Given the description of an element on the screen output the (x, y) to click on. 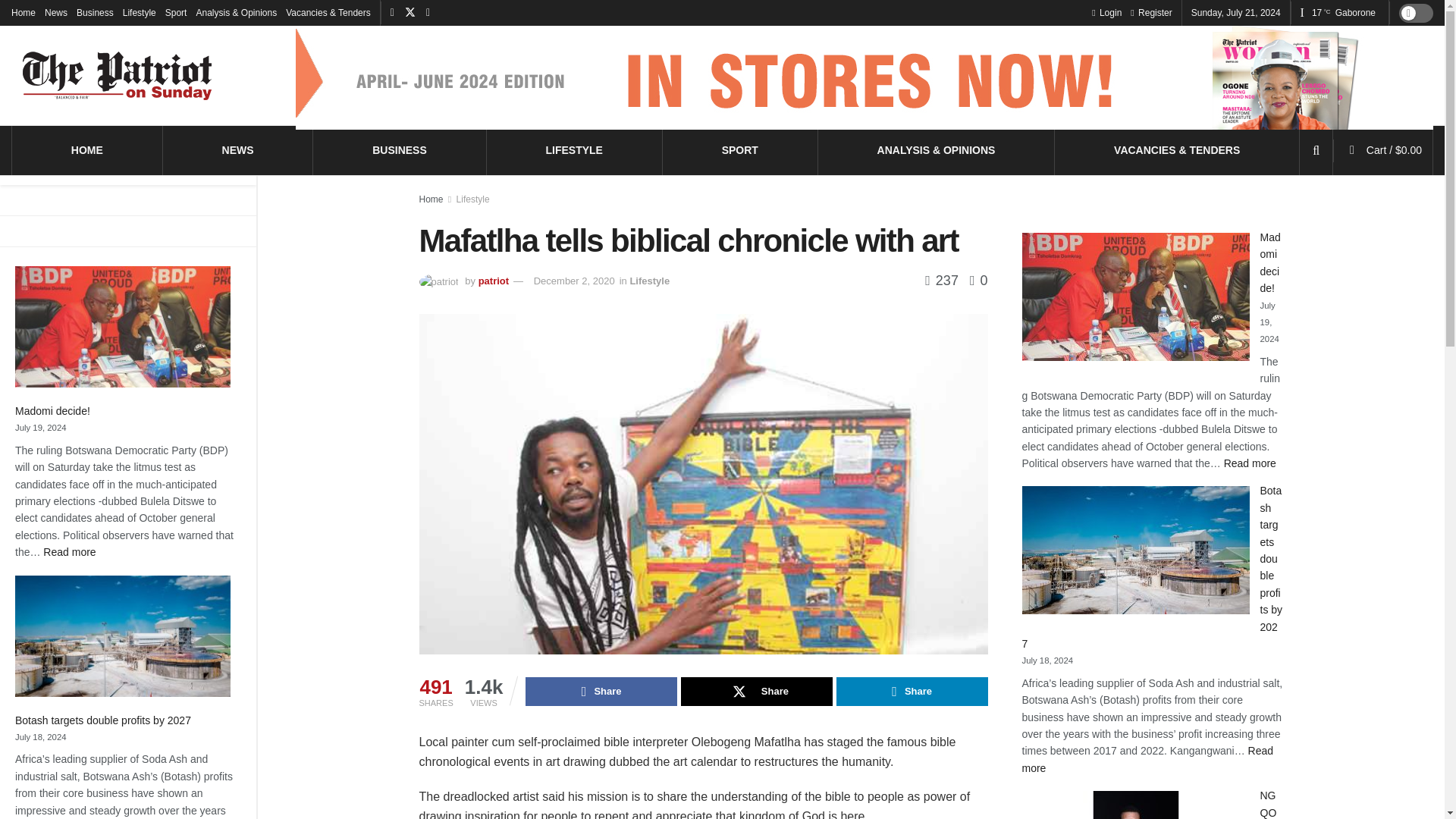
Lifestyle (138, 12)
HOME (87, 149)
Business (95, 12)
View your shopping cart (1394, 150)
NEWS (237, 149)
Login (1106, 12)
BUSINESS (399, 149)
Botash targets double profits by 2027  (103, 720)
LIFESTYLE (573, 149)
Madomi decide!  (53, 410)
SPORT (740, 149)
Home (22, 12)
Register (69, 551)
